Given the description of an element on the screen output the (x, y) to click on. 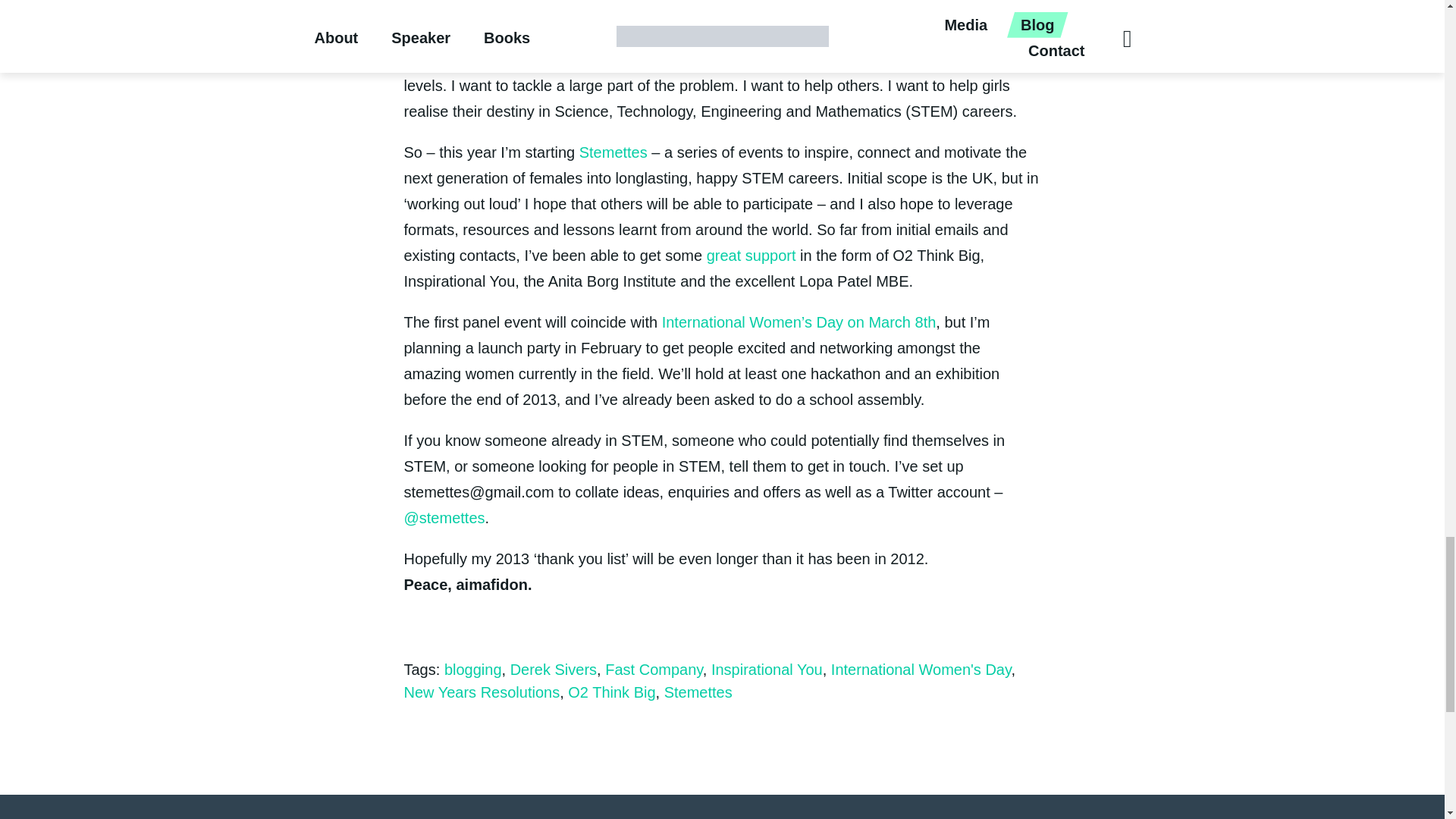
New Years Resolutions (481, 692)
Stemettes (697, 692)
women in technology (474, 59)
Fast Company (654, 669)
International Women's Day (921, 669)
Stemette Supporters (751, 255)
Stemettes - Girls do Science too (613, 152)
Derek Sivers (553, 669)
O2 Think Big (611, 692)
My 'women' posts (474, 59)
International Women's Day (799, 321)
Inspirational You (766, 669)
blogging (473, 669)
great support (751, 255)
Stemettes (613, 152)
